Given the description of an element on the screen output the (x, y) to click on. 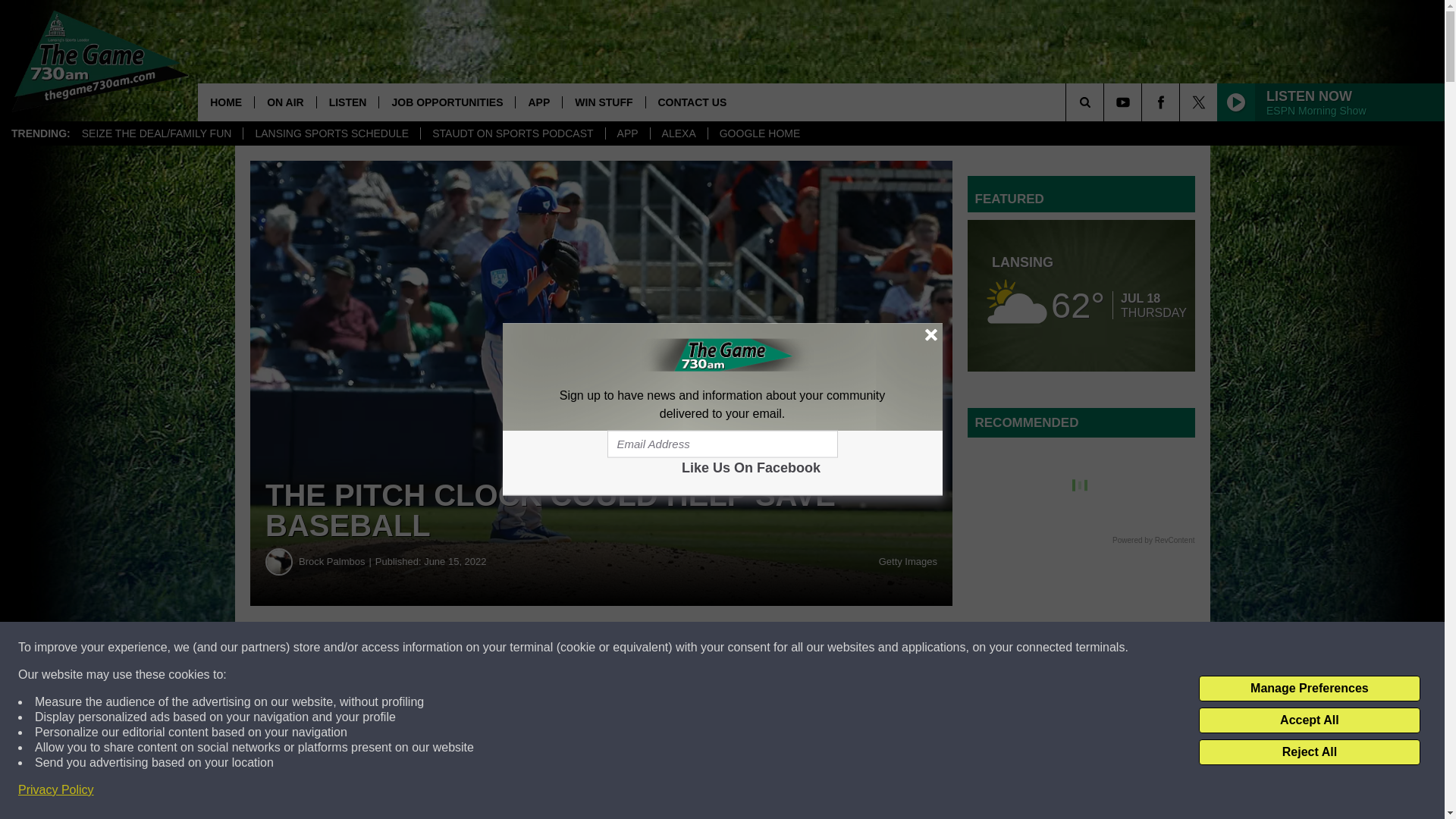
Share on Twitter (741, 647)
HOME (225, 102)
Manage Preferences (1309, 688)
ALEXA (678, 133)
APP (627, 133)
LANSING SPORTS SCHEDULE (331, 133)
JOB OPPORTUNITIES (446, 102)
Privacy Policy (55, 789)
SEARCH (1106, 102)
CONTACT US (691, 102)
STAUDT ON SPORTS PODCAST (512, 133)
Accept All (1309, 720)
ON AIR (284, 102)
WIN STUFF (603, 102)
APP (538, 102)
